Given the description of an element on the screen output the (x, y) to click on. 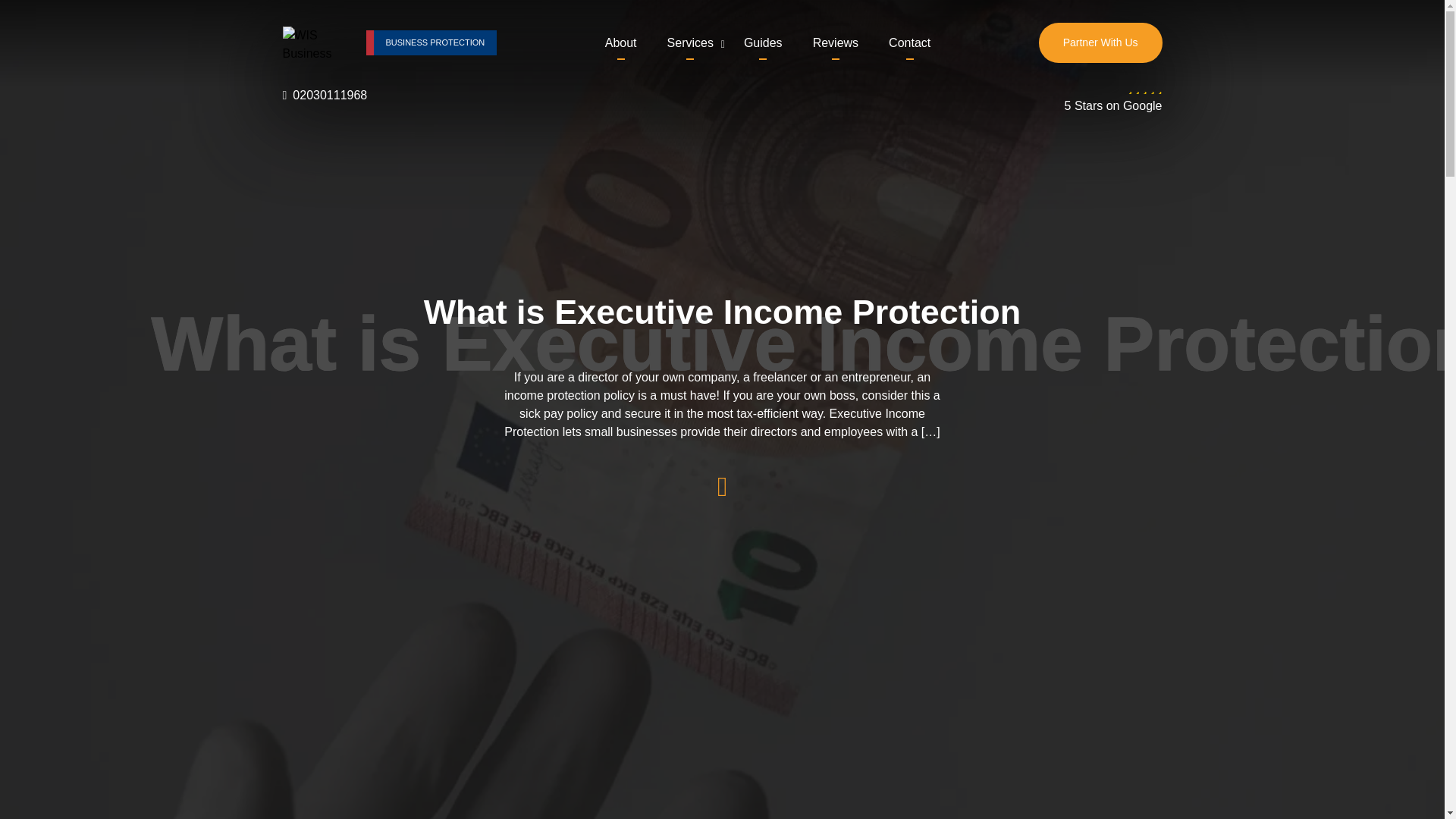
Partner With Us (1100, 42)
Reviews (835, 42)
Services (689, 42)
BUSINESS PROTECTION (430, 42)
5 Stars on Google (1112, 96)
Guides (763, 42)
02030111968 (324, 95)
Contact (909, 42)
About (621, 42)
